Given the description of an element on the screen output the (x, y) to click on. 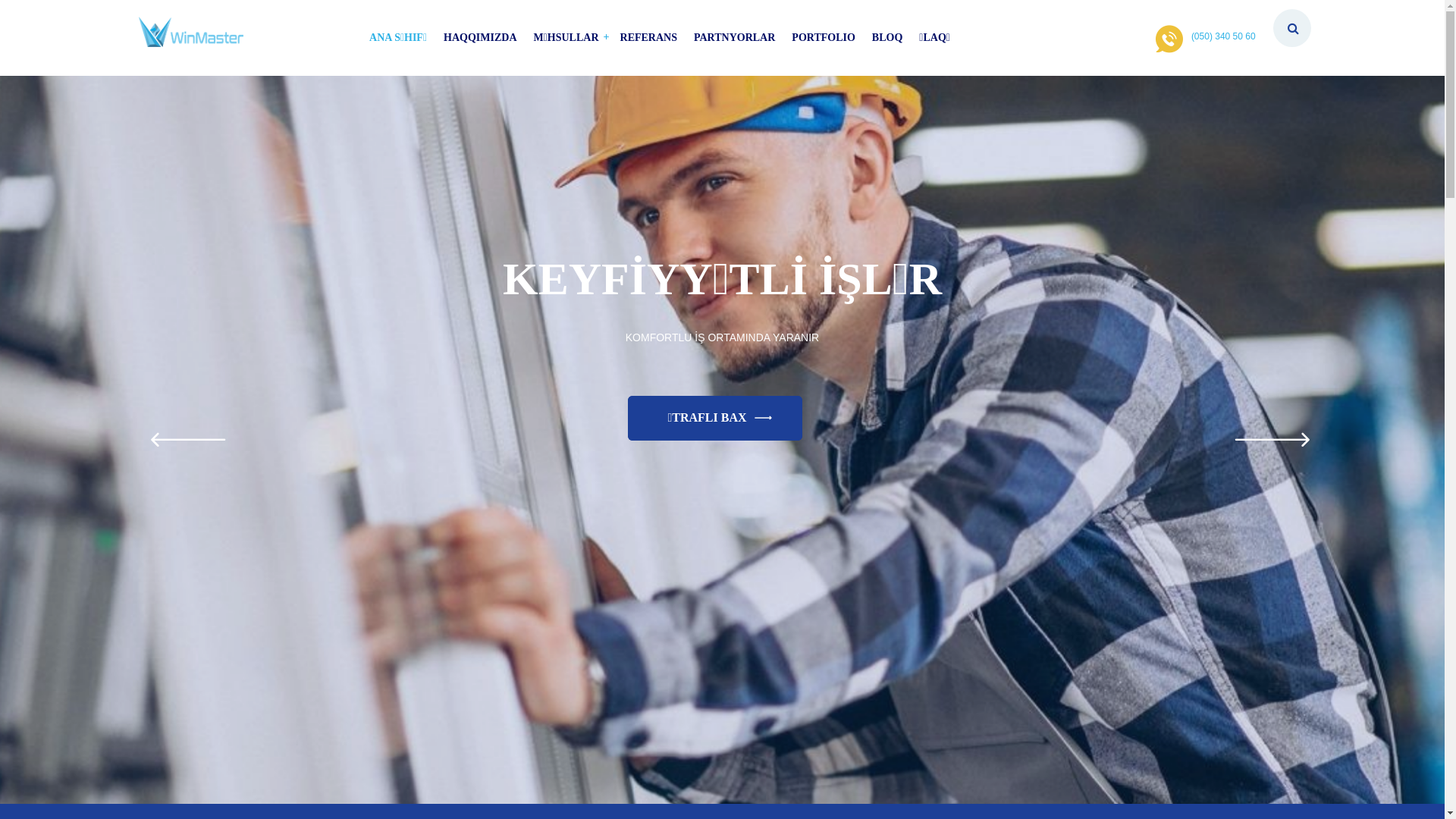
HAQQIMIZDA Element type: text (479, 37)
REFERANS Element type: text (648, 37)
WinMaster.az Element type: hover (190, 31)
PARTNYORLAR Element type: text (734, 37)
(050) 340 50 60 Element type: text (1223, 37)
PORTFOLIO Element type: text (823, 37)
BLOQ Element type: text (886, 37)
